Given the description of an element on the screen output the (x, y) to click on. 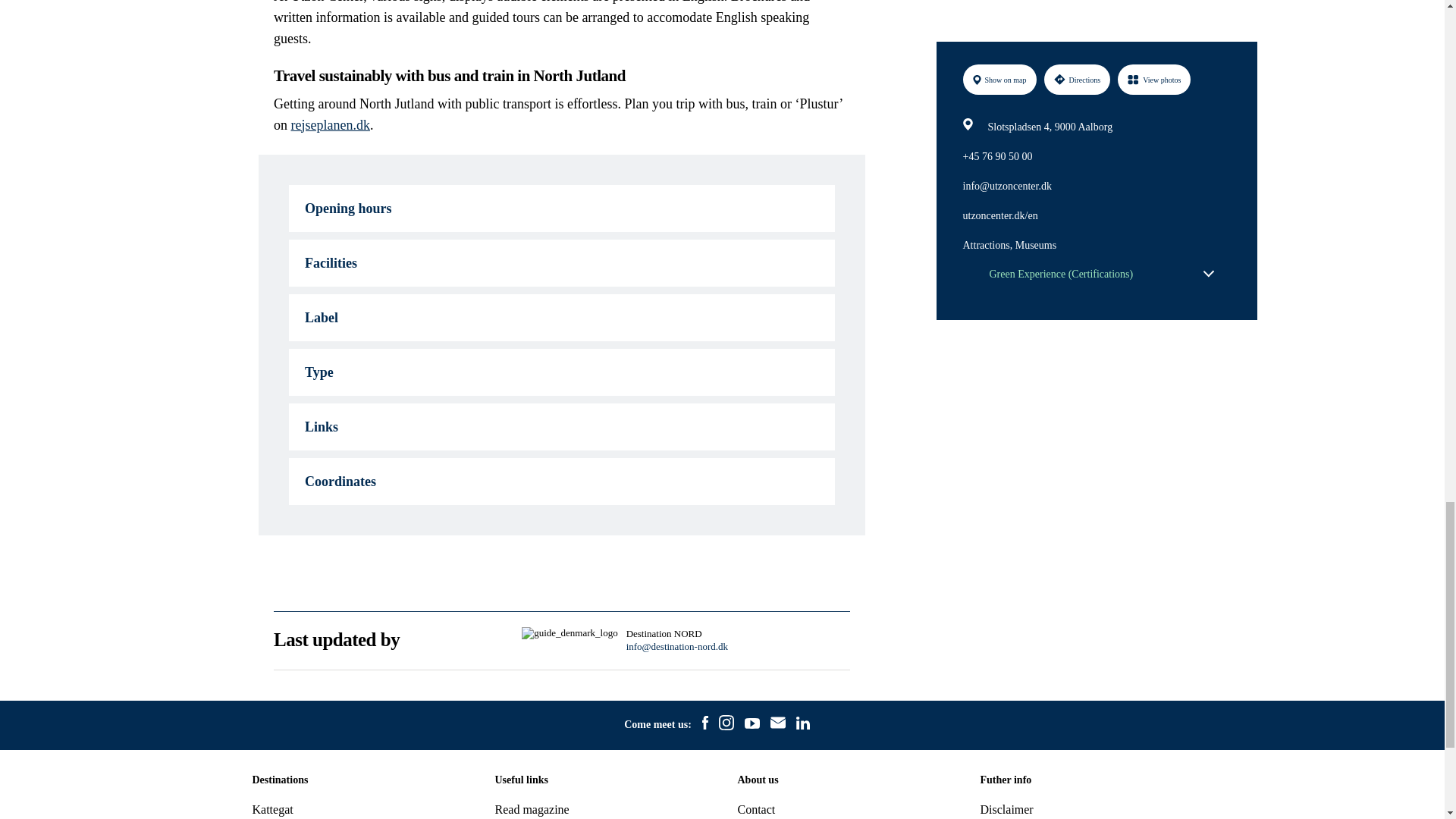
linkedin (802, 724)
Kattegat (271, 809)
Type (561, 371)
instagram (726, 724)
Label (561, 317)
facebook (705, 724)
youtube (752, 725)
Facilities (561, 262)
Links (561, 426)
Read magazine (532, 809)
